Given the description of an element on the screen output the (x, y) to click on. 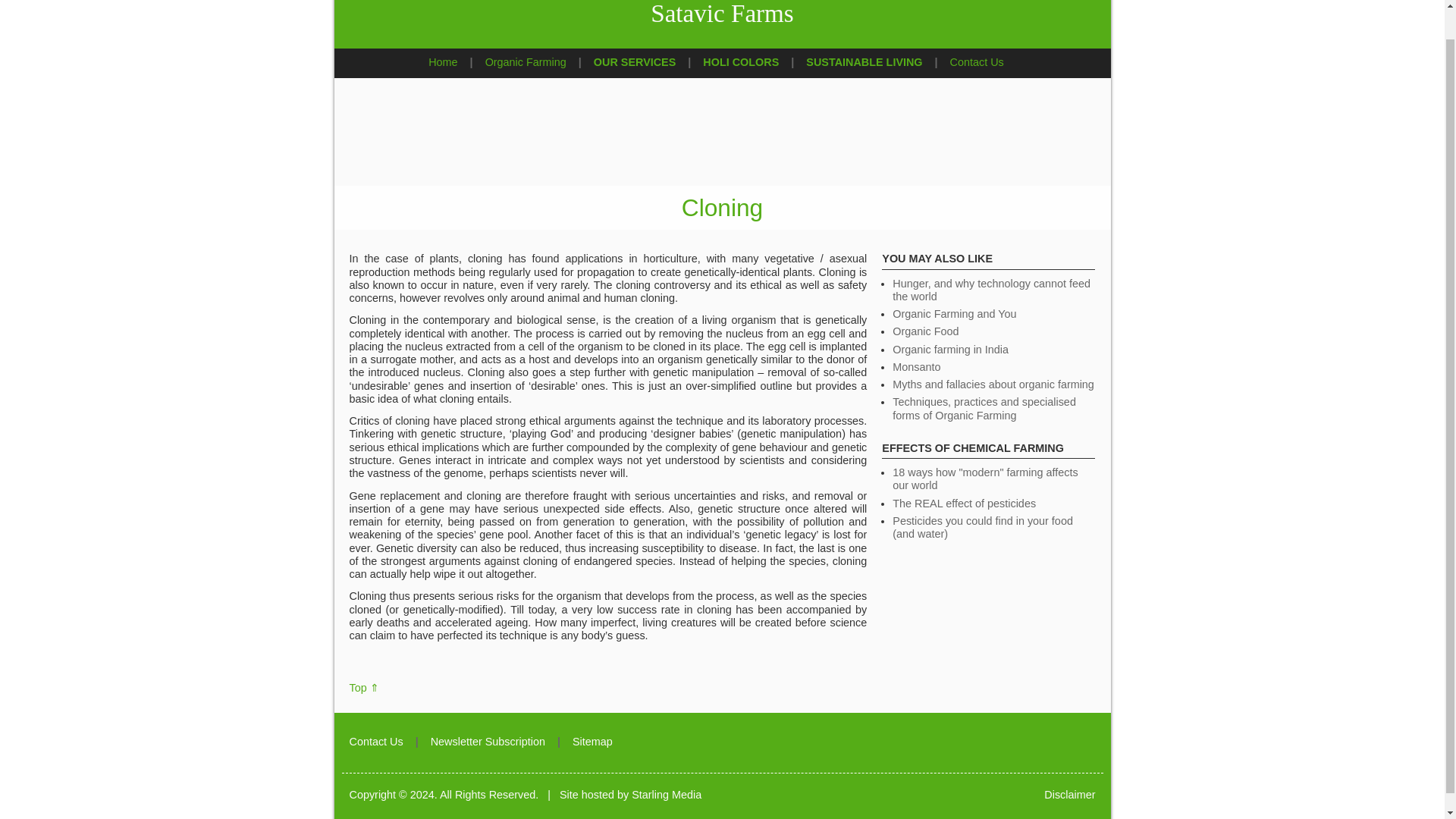
Organic Food (925, 331)
Newsletter Subscription (487, 741)
Sitemap (592, 741)
Myths and fallacies about organic farming (993, 384)
Hunger, and why technology cannot feed the world (991, 289)
18 ways how "modern" farming affects our world (984, 478)
Home (442, 61)
The REAL effect of pesticides (963, 503)
Organic farming in India (950, 349)
Organic Farming and You (954, 313)
Monsanto (916, 367)
Site hosted by Starling Media (630, 793)
Organic Farming (525, 61)
Facebook (1085, 744)
